Given the description of an element on the screen output the (x, y) to click on. 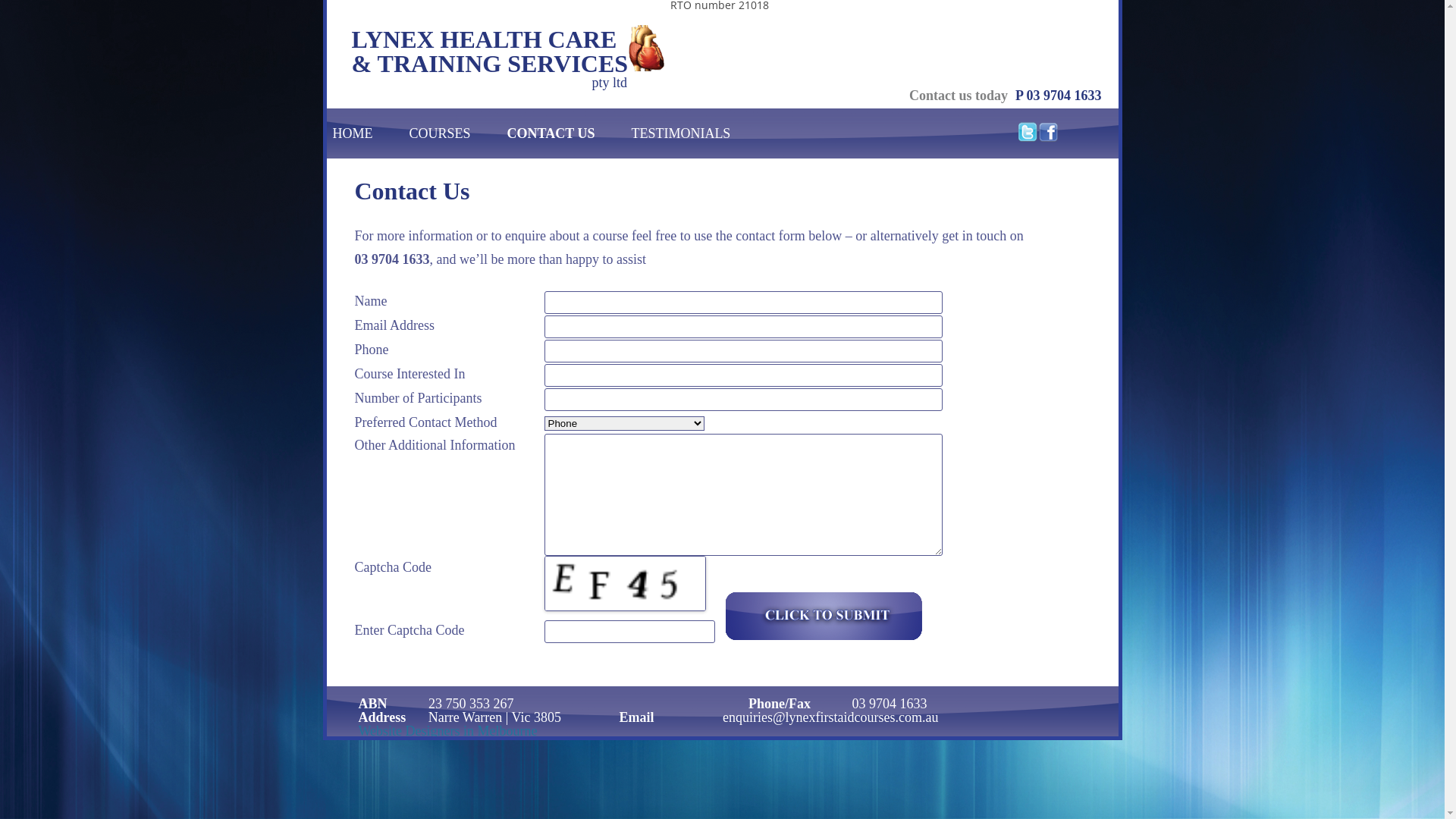
HOME Element type: text (349, 133)
Website Designers in Melbourne Element type: text (446, 730)
COURSES Element type: text (436, 133)
TESTIMONIALS Element type: text (677, 133)
CONTACT US Element type: text (548, 133)
- Element type: text (821, 616)
